Given the description of an element on the screen output the (x, y) to click on. 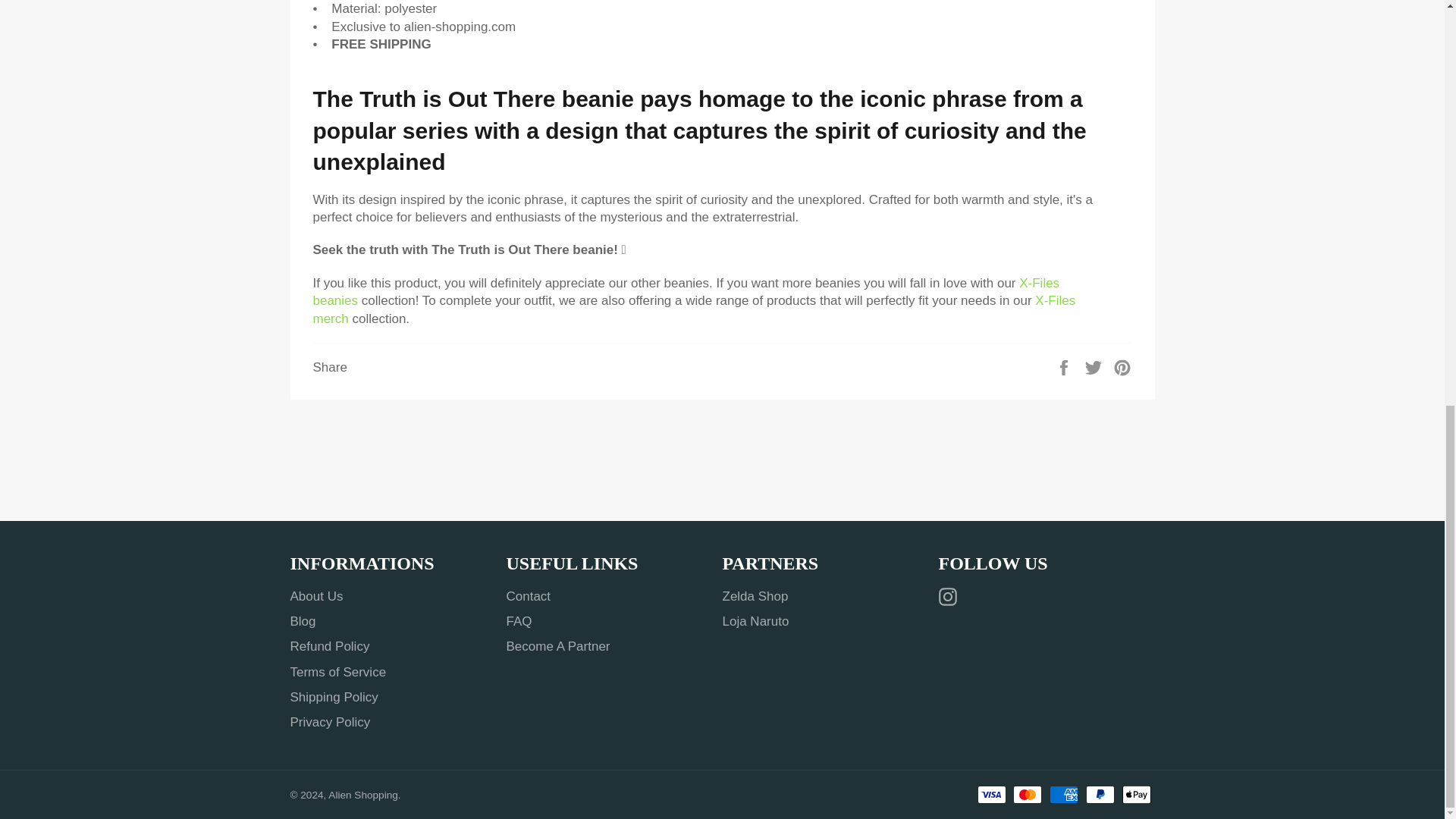
Zelda Shop (754, 595)
Contact (528, 595)
Refund Policy (329, 646)
Share on Facebook (1065, 367)
X-Files merch (694, 309)
Instagram (951, 597)
Share on Facebook (1065, 367)
x files beanies (686, 291)
Pin on Pinterest (1122, 367)
Tweet on Twitter (1095, 367)
Blog (302, 621)
x files merch (694, 309)
About Us (315, 595)
Shipping Policy (333, 697)
Tweet on Twitter (1095, 367)
